Given the description of an element on the screen output the (x, y) to click on. 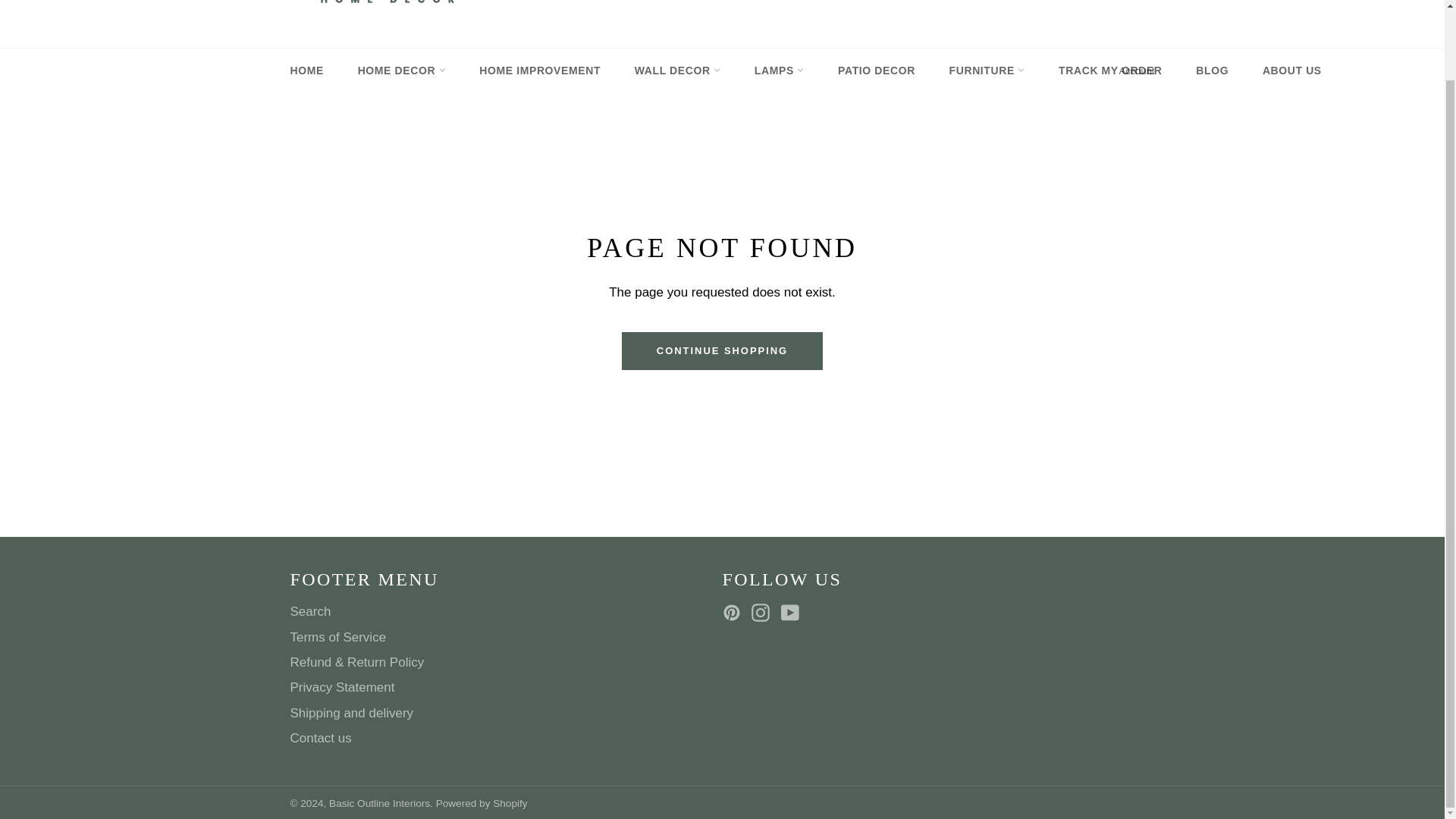
Cart (1138, 1)
Basic Outline Interiors on Pinterest (735, 611)
Basic Outline Interiors on Instagram (764, 611)
Basic Outline Interiors on YouTube (793, 611)
